Given the description of an element on the screen output the (x, y) to click on. 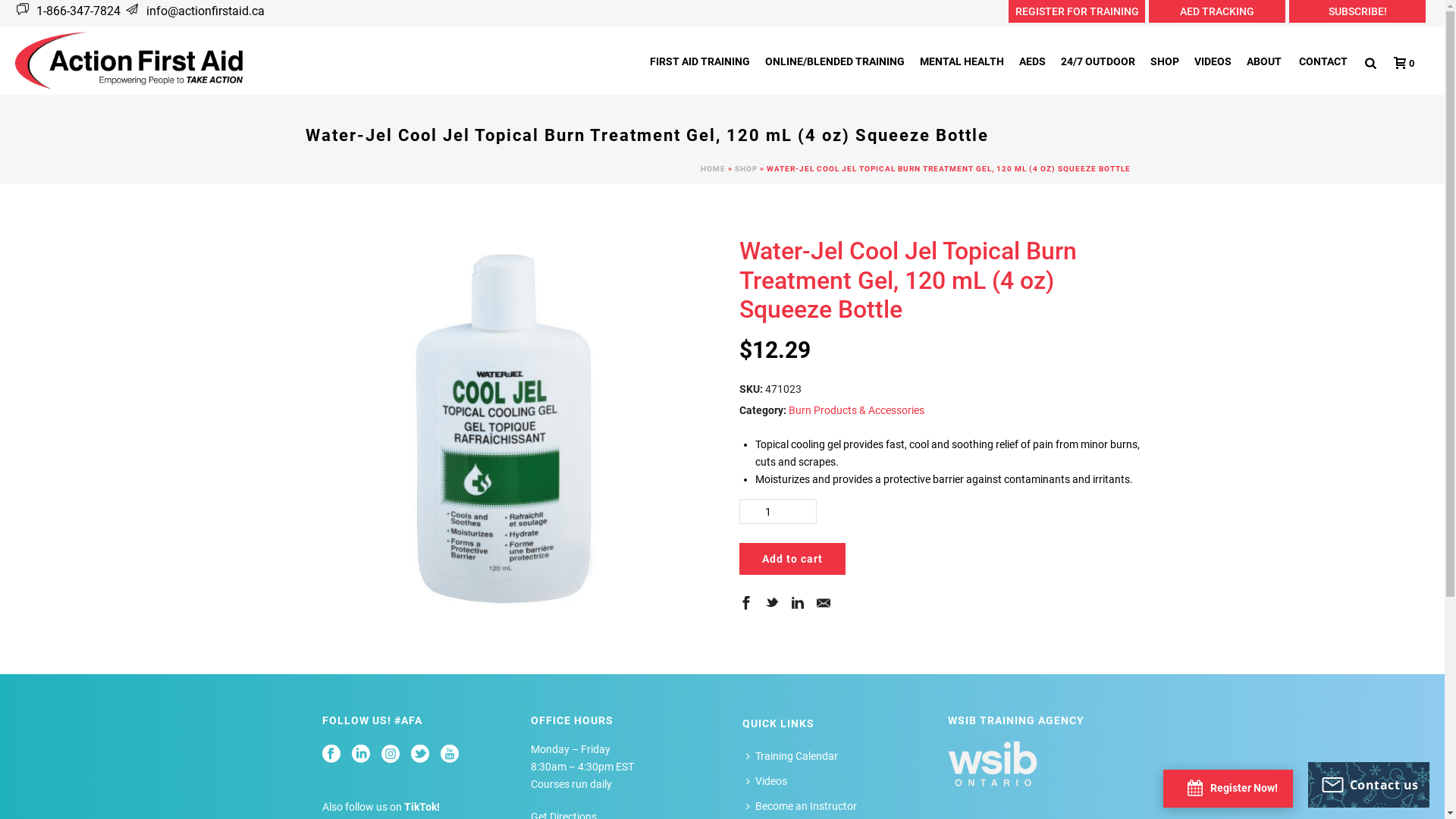
Training Calendar Element type: text (794, 755)
24/7 OUTDOOR Element type: text (1097, 61)
Videos Element type: text (769, 780)
VIDEOS Element type: text (1212, 61)
FIRST AID TRAINING Element type: text (699, 61)
Register Now! Element type: text (1232, 787)
Follow Us! #afa twitter Element type: hover (420, 754)
HOME Element type: text (712, 168)
Follow Us! #afa facebook Element type: hover (330, 754)
Follow Us! #afa youtube Element type: hover (448, 754)
  1-866-347-7824 Element type: text (75, 10)
Contact us Element type: text (1368, 784)
SHOP Element type: text (1164, 61)
REGISTER FOR TRAINING Element type: text (1076, 11)
Add to cart Element type: text (791, 558)
 CONTACT Element type: text (1322, 61)
ABOUT Element type: text (1264, 61)
SUBSCRIBE! Element type: text (1357, 11)
0 Element type: text (1399, 62)
AEDS Element type: text (1032, 61)
Follow Us! #afa linkedin Element type: hover (360, 754)
ONLINE/BLENDED TRAINING Element type: text (834, 61)
Burn Products & Accessories Element type: text (856, 410)
Qty Element type: hover (776, 511)
MENTAL HEALTH Element type: text (961, 61)
AED TRACKING Element type: text (1216, 11)
Follow Us! #afa instagram Element type: hover (389, 754)
SHOP Element type: text (745, 168)
 info@actionfirstaid.ca Element type: text (203, 10)
